Given the description of an element on the screen output the (x, y) to click on. 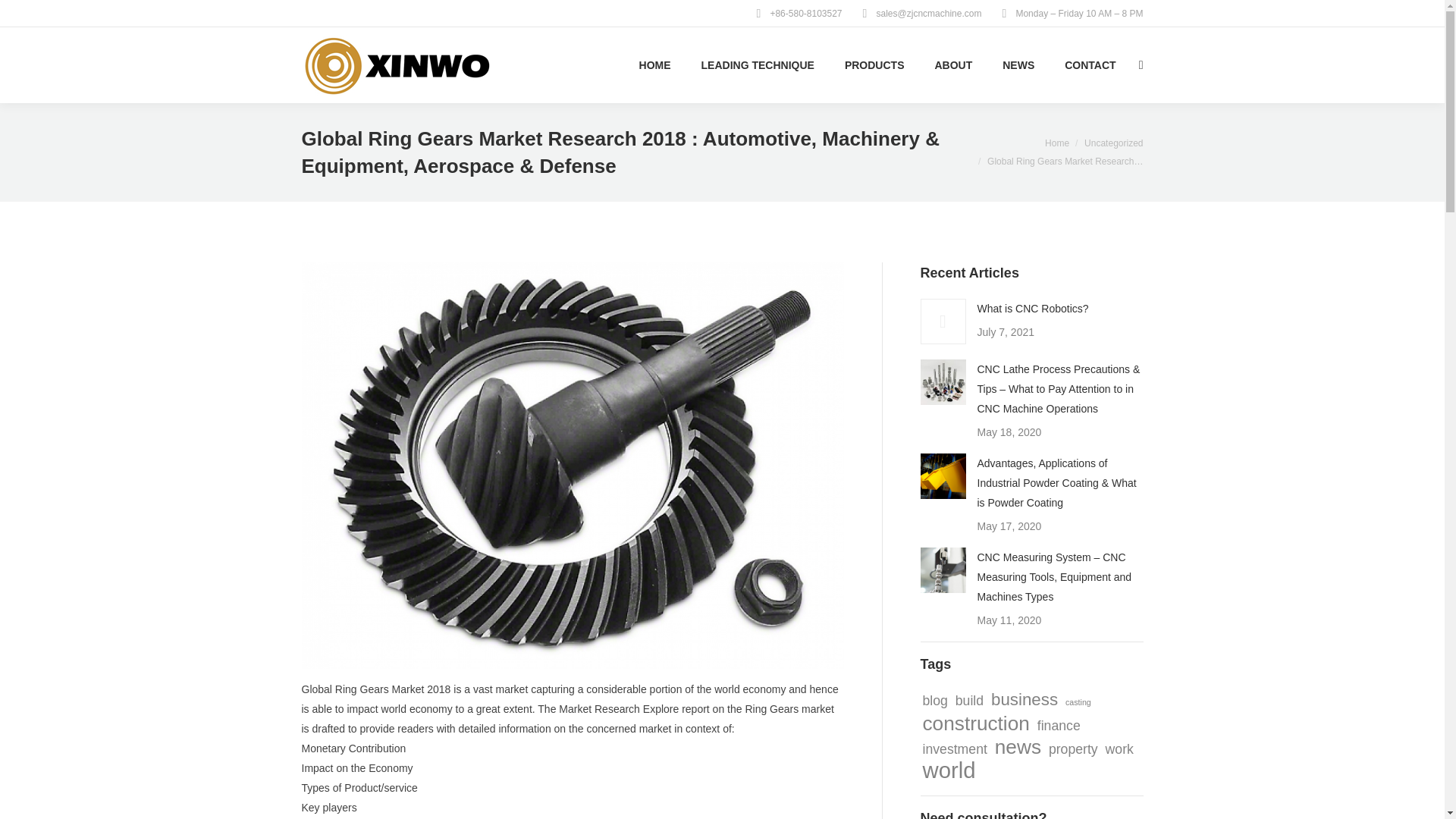
PRODUCTS (874, 65)
Uncategorized (1113, 143)
Go! (24, 15)
LEADING TECHNIQUE (757, 65)
Home (1056, 143)
